Given the description of an element on the screen output the (x, y) to click on. 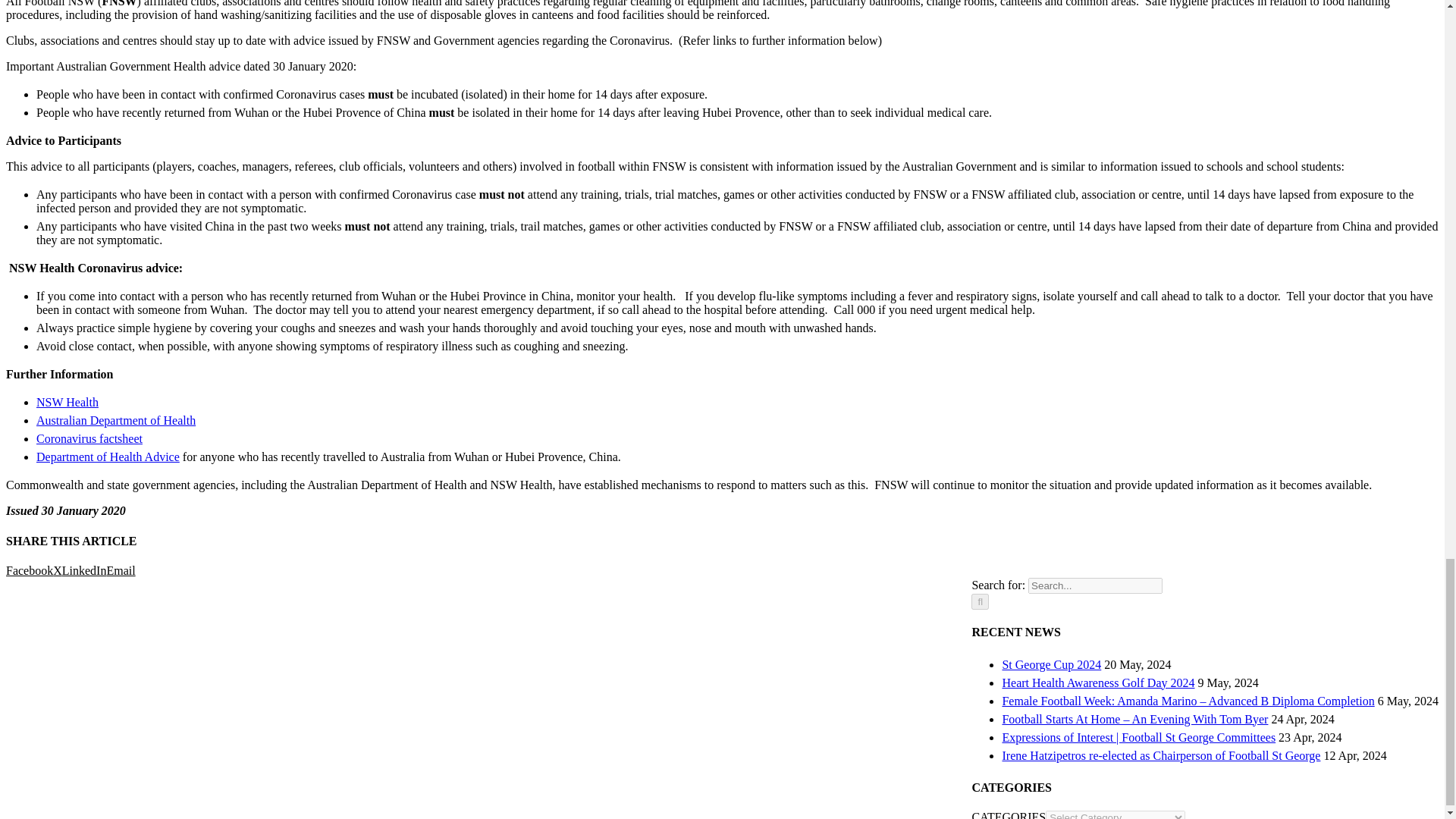
Email (120, 570)
LinkedIn (84, 570)
Facebook (28, 570)
